Given the description of an element on the screen output the (x, y) to click on. 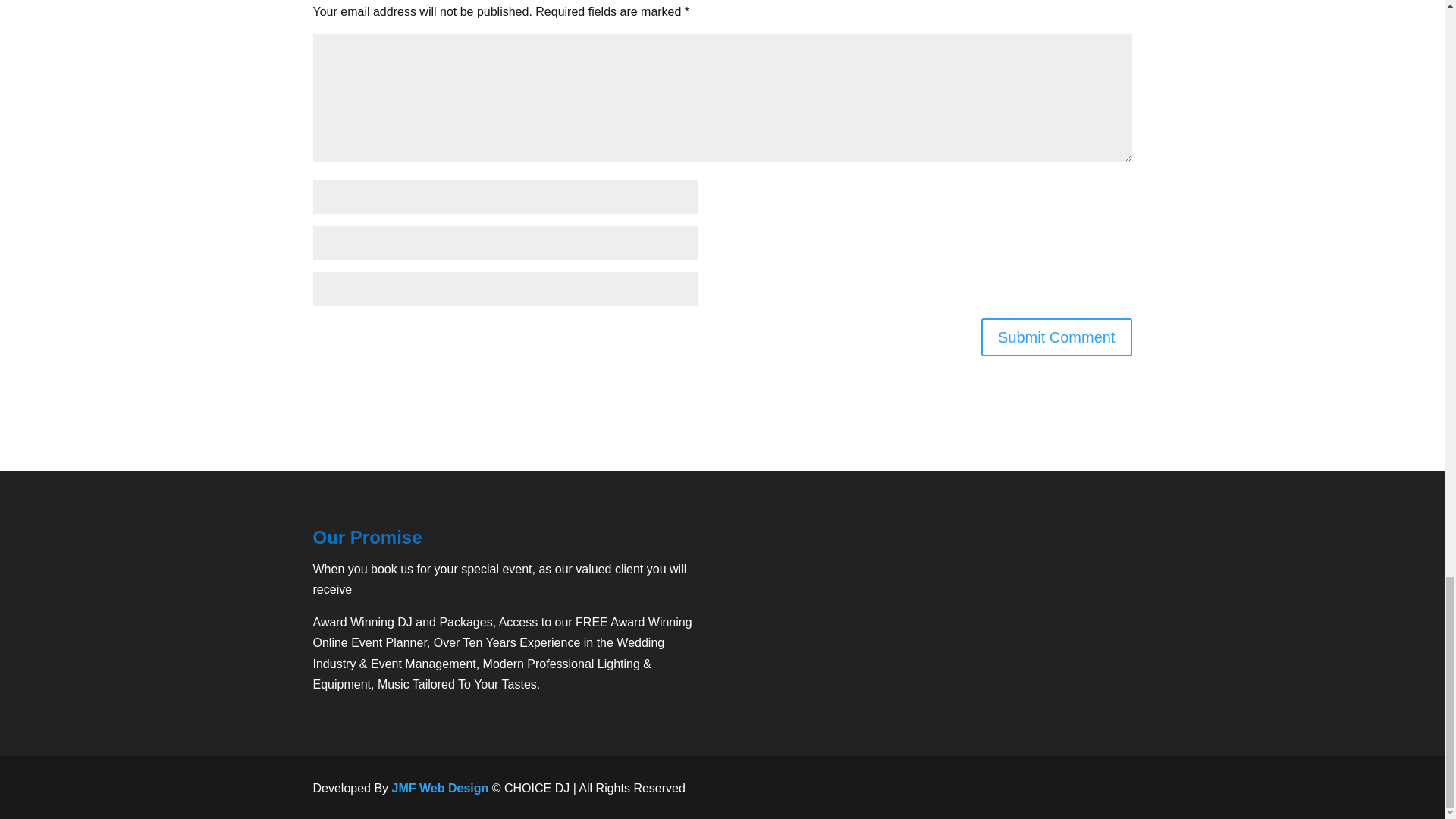
JMF Web Design (440, 788)
bitcoin (1053, 787)
Submit Comment (1056, 337)
Partner-hitched (1044, 663)
